Given the description of an element on the screen output the (x, y) to click on. 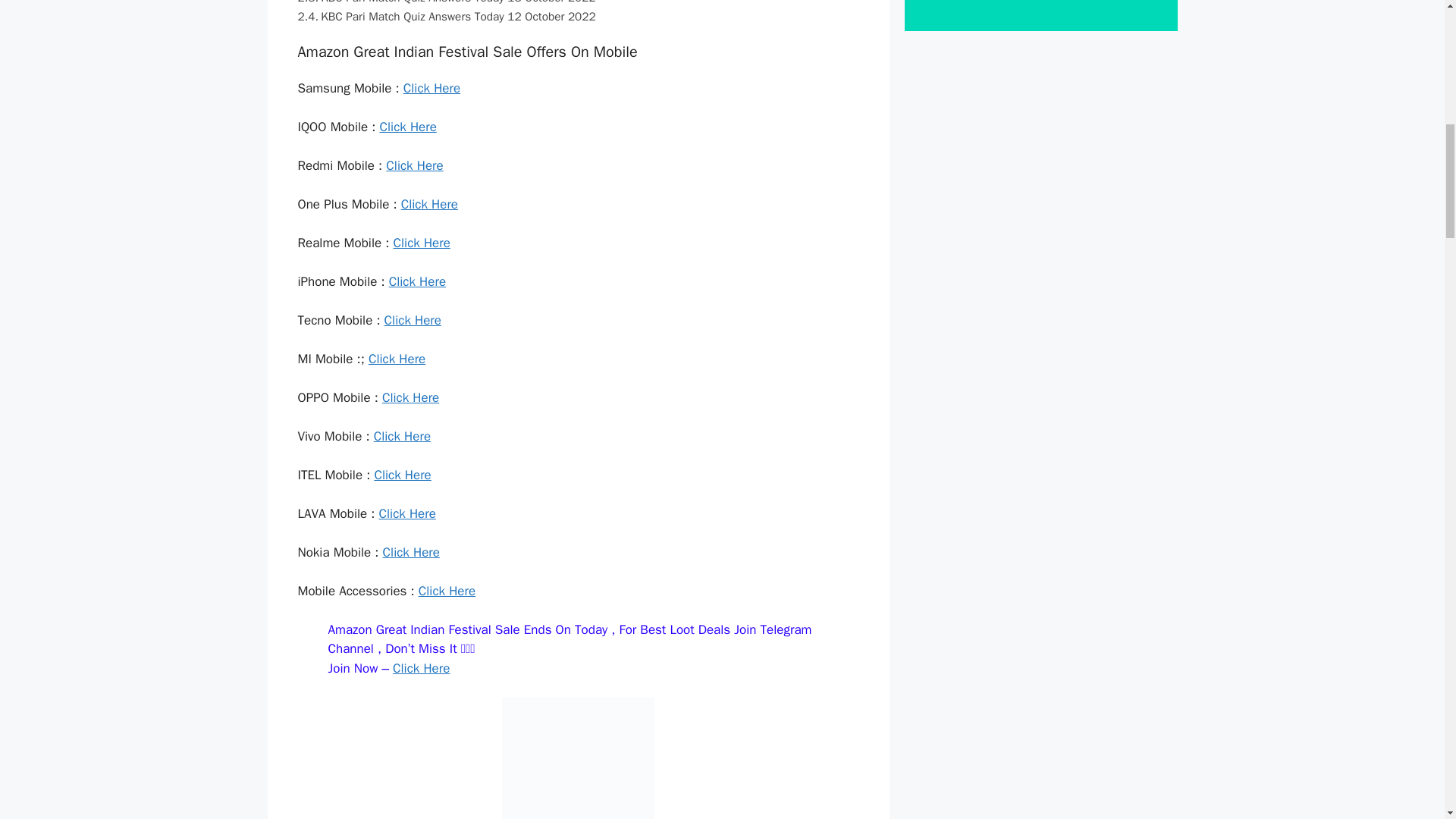
Click Here (412, 320)
Click Here (410, 397)
KBC Pari Match Quiz Answers Today 12 October 2022 (446, 16)
Click Here (447, 590)
Click Here (421, 242)
Click Here (396, 358)
Click Here (406, 513)
Click Here (410, 552)
KBC Pari Match Quiz Answers Today 12 October 2022 (446, 16)
Click Here (429, 204)
KBC Pari Match Quiz Answers Today 13 October 2022 (446, 3)
Click Here (421, 668)
Click Here (431, 88)
Click Here (402, 436)
Click Here (406, 126)
